Given the description of an element on the screen output the (x, y) to click on. 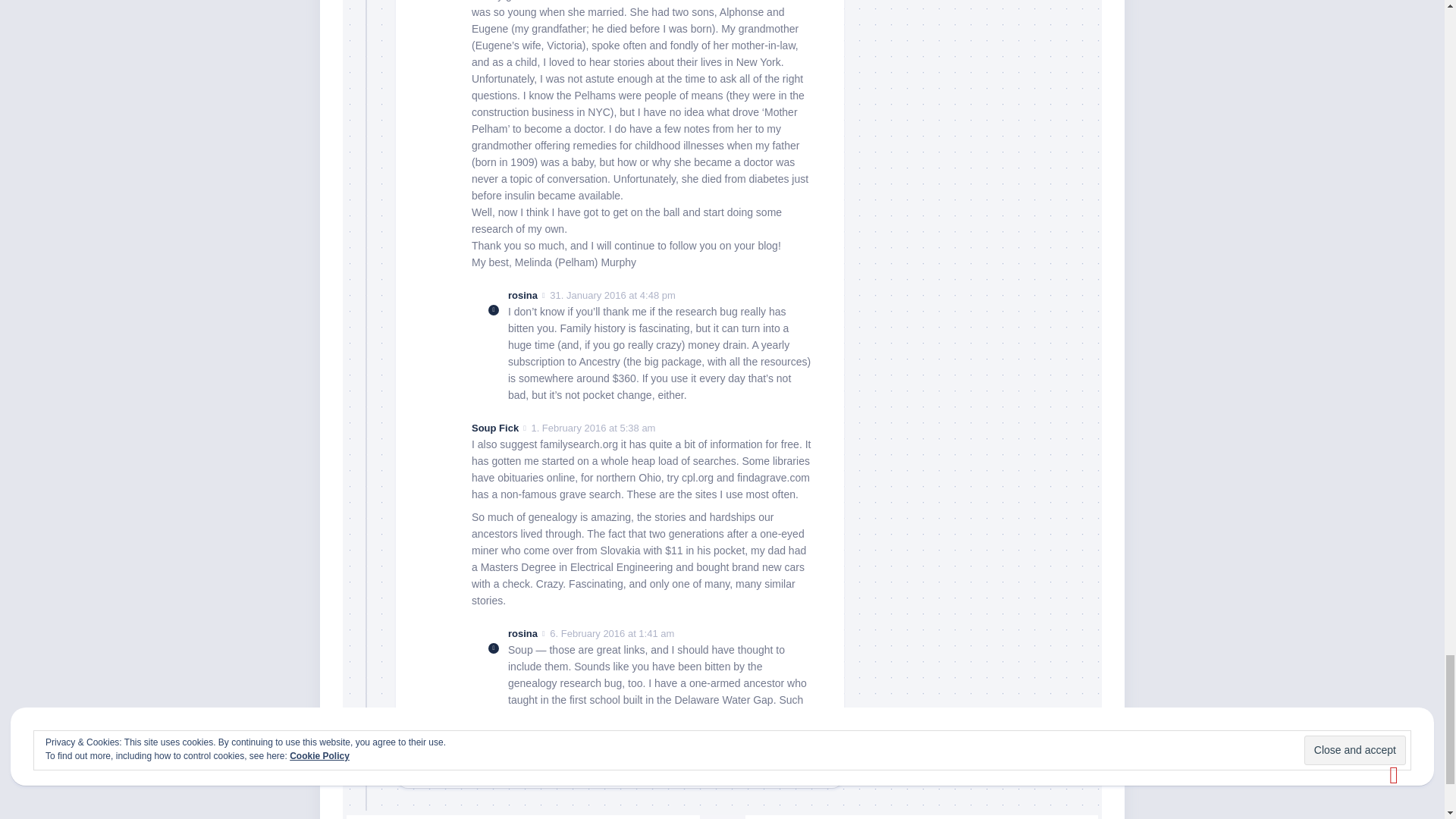
6. February 2016 at 1:41 am (612, 633)
rosina (522, 295)
rosina (522, 633)
31. January 2016 at 4:48 pm (612, 295)
1. February 2016 at 5:38 am (593, 428)
